Given the description of an element on the screen output the (x, y) to click on. 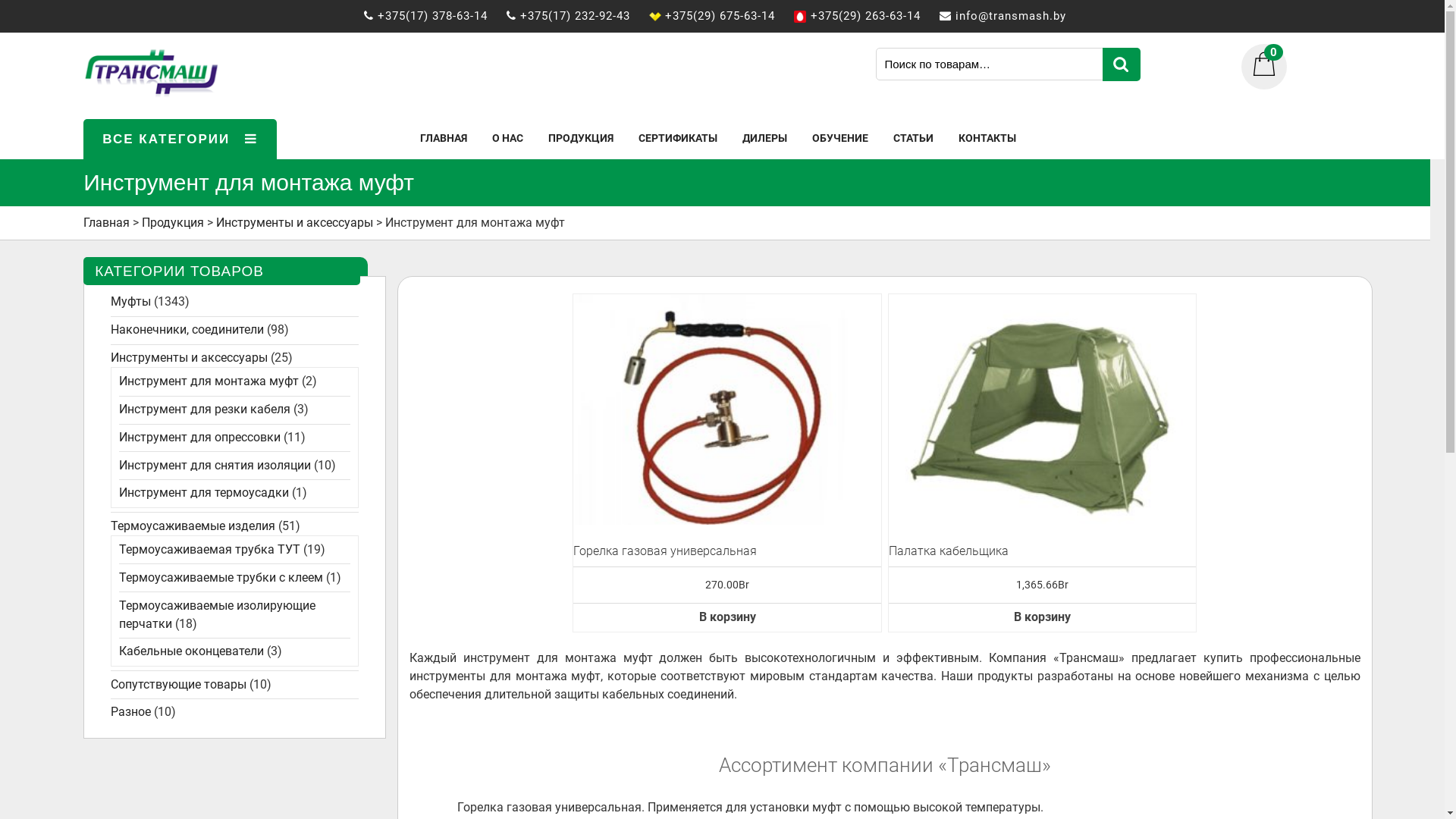
+375(17) 232-92-43 Element type: text (582, 15)
+375(17) 378-63-14 Element type: text (439, 15)
+375(29) 675-63-14 Element type: text (726, 15)
+375(29) 263-63-14 Element type: text (872, 15)
info@transmash.by Element type: text (1018, 15)
